Given the description of an element on the screen output the (x, y) to click on. 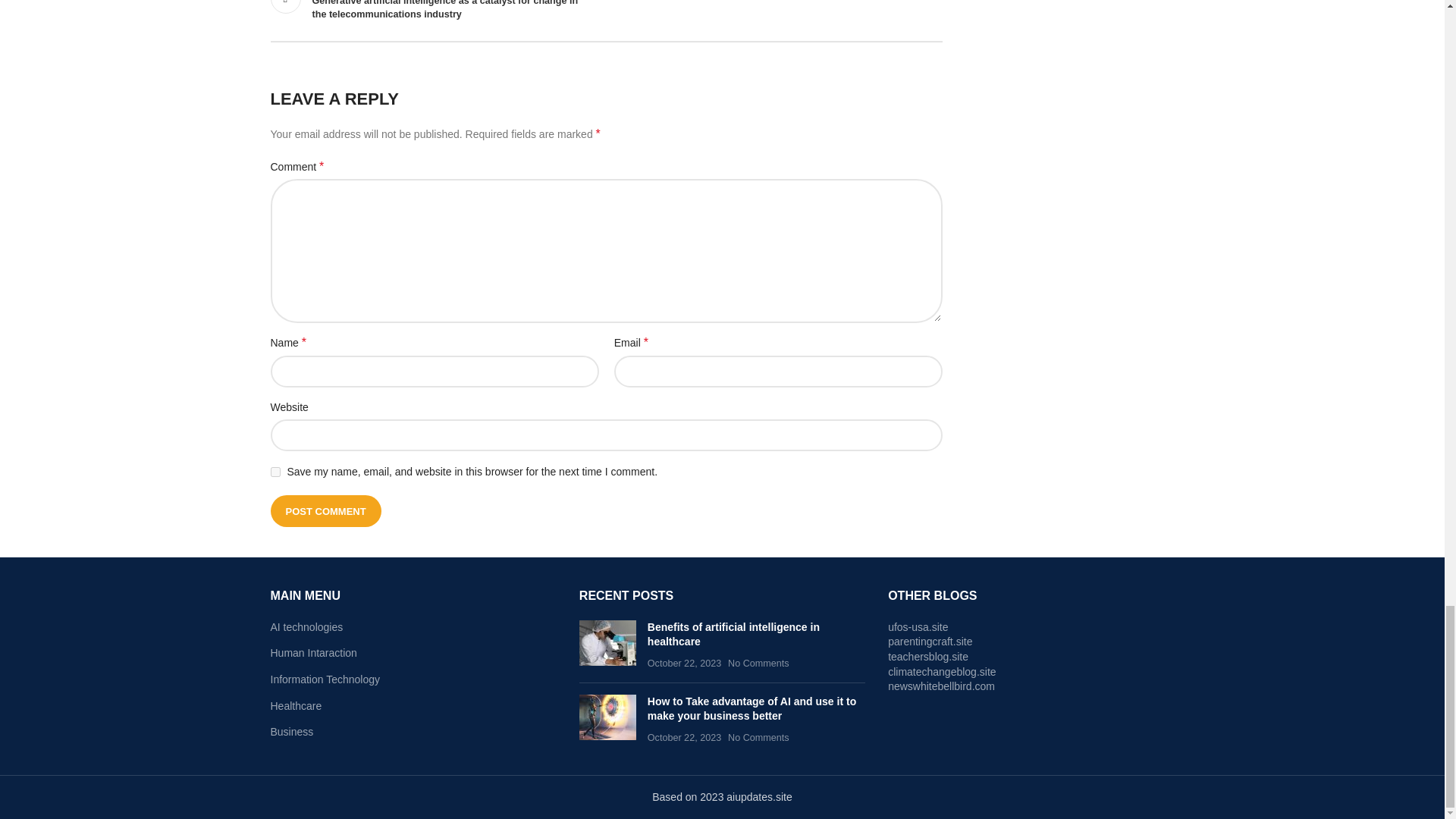
Post Comment (324, 511)
Post Comment (324, 511)
yes (274, 471)
Benefits-of-artificial-intelligence-in-healthcare (607, 642)
